Given the description of an element on the screen output the (x, y) to click on. 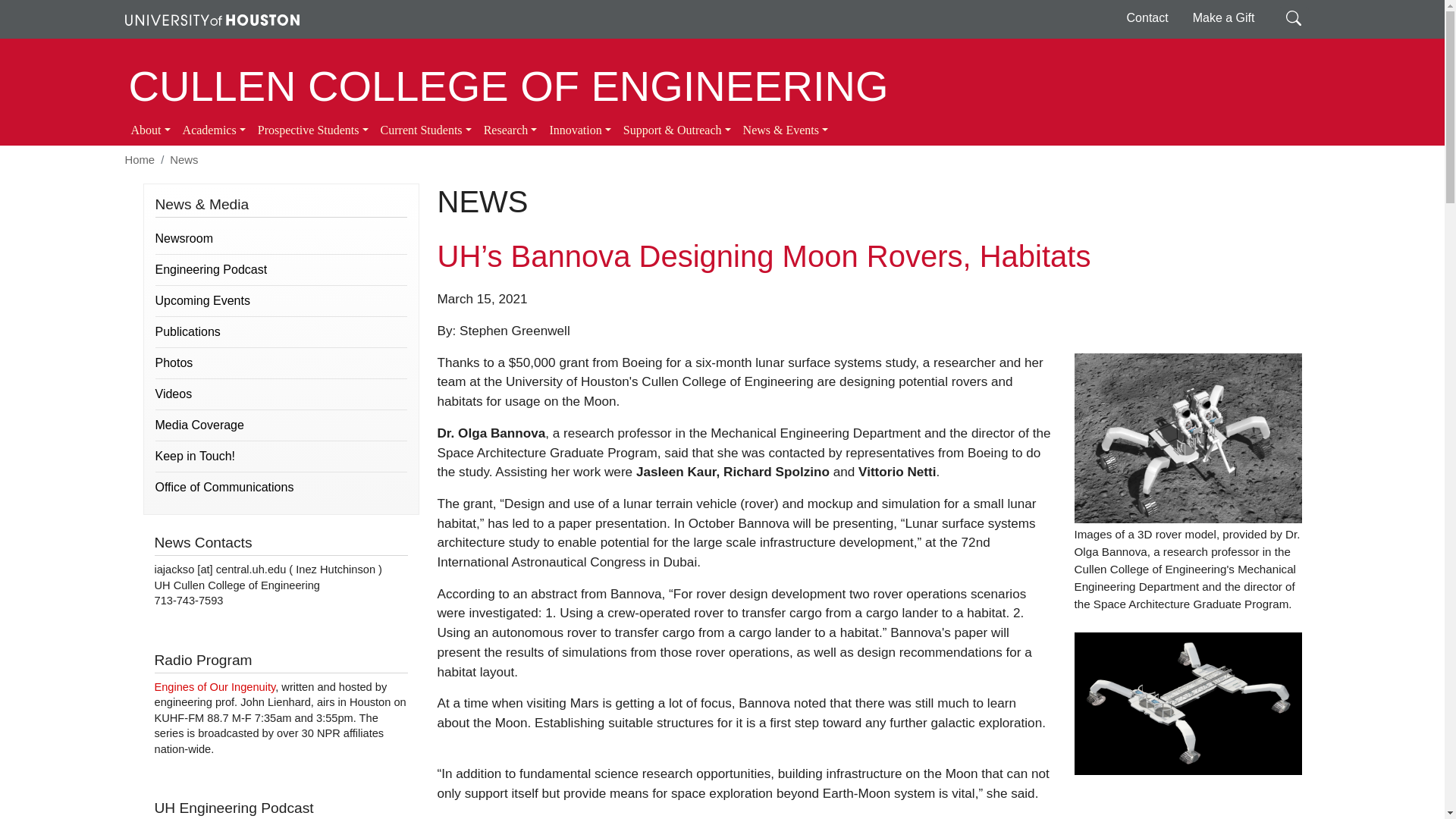
About (149, 130)
Make a Gift (1223, 18)
About (149, 130)
Make a Gift (1223, 18)
Contact (1147, 18)
Contact (1147, 18)
Enter the terms you wish to search for. (1293, 17)
Academics (213, 130)
CULLEN COLLEGE OF ENGINEERING (508, 85)
